Given the description of an element on the screen output the (x, y) to click on. 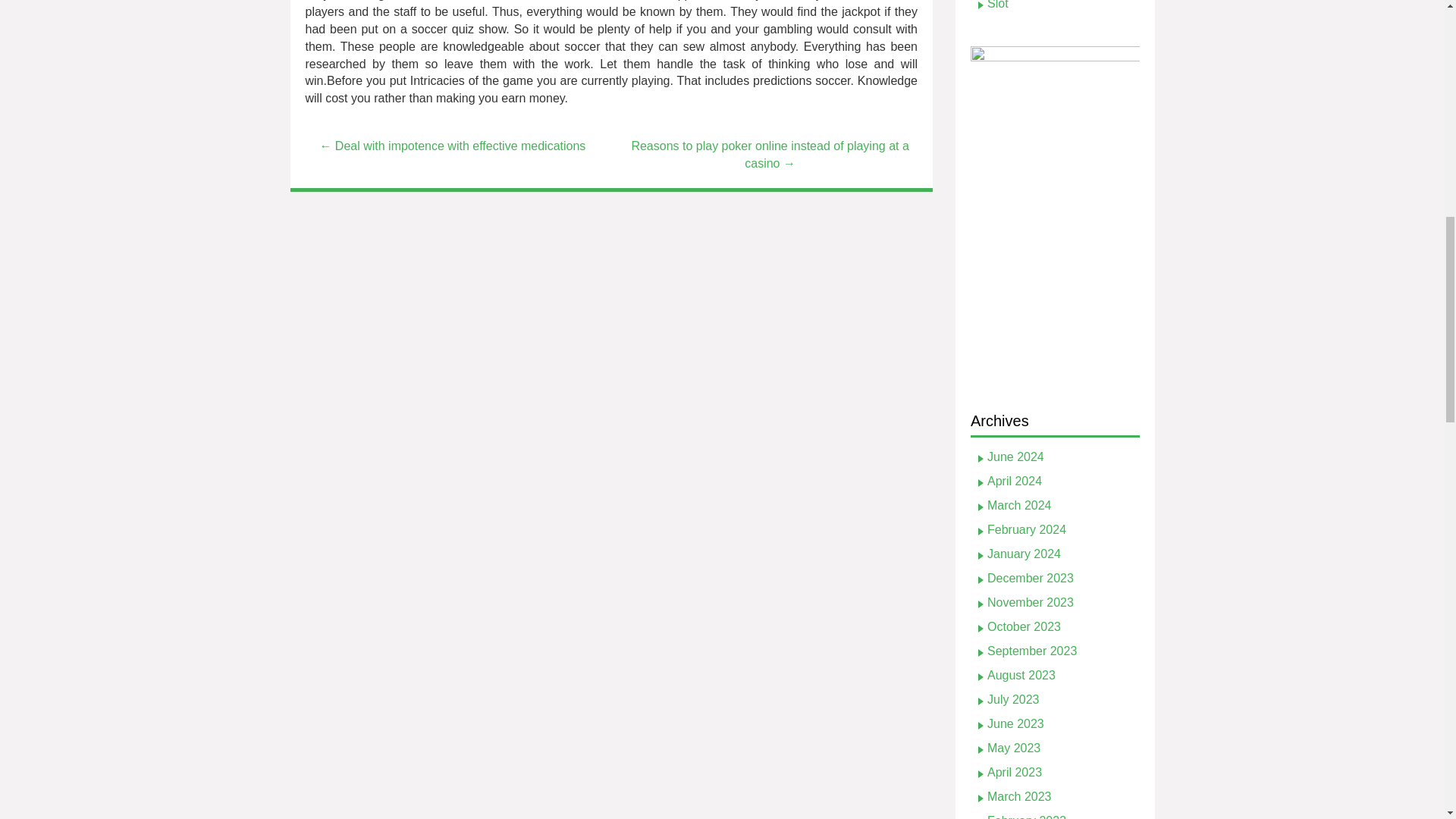
June 2023 (1015, 723)
April 2024 (1014, 481)
September 2023 (1032, 650)
August 2023 (1021, 675)
Slot (998, 4)
March 2024 (1019, 504)
December 2023 (1030, 577)
February 2024 (1026, 529)
January 2024 (1024, 553)
July 2023 (1013, 698)
November 2023 (1030, 602)
October 2023 (1024, 626)
June 2024 (1015, 456)
May 2023 (1014, 748)
